Given the description of an element on the screen output the (x, y) to click on. 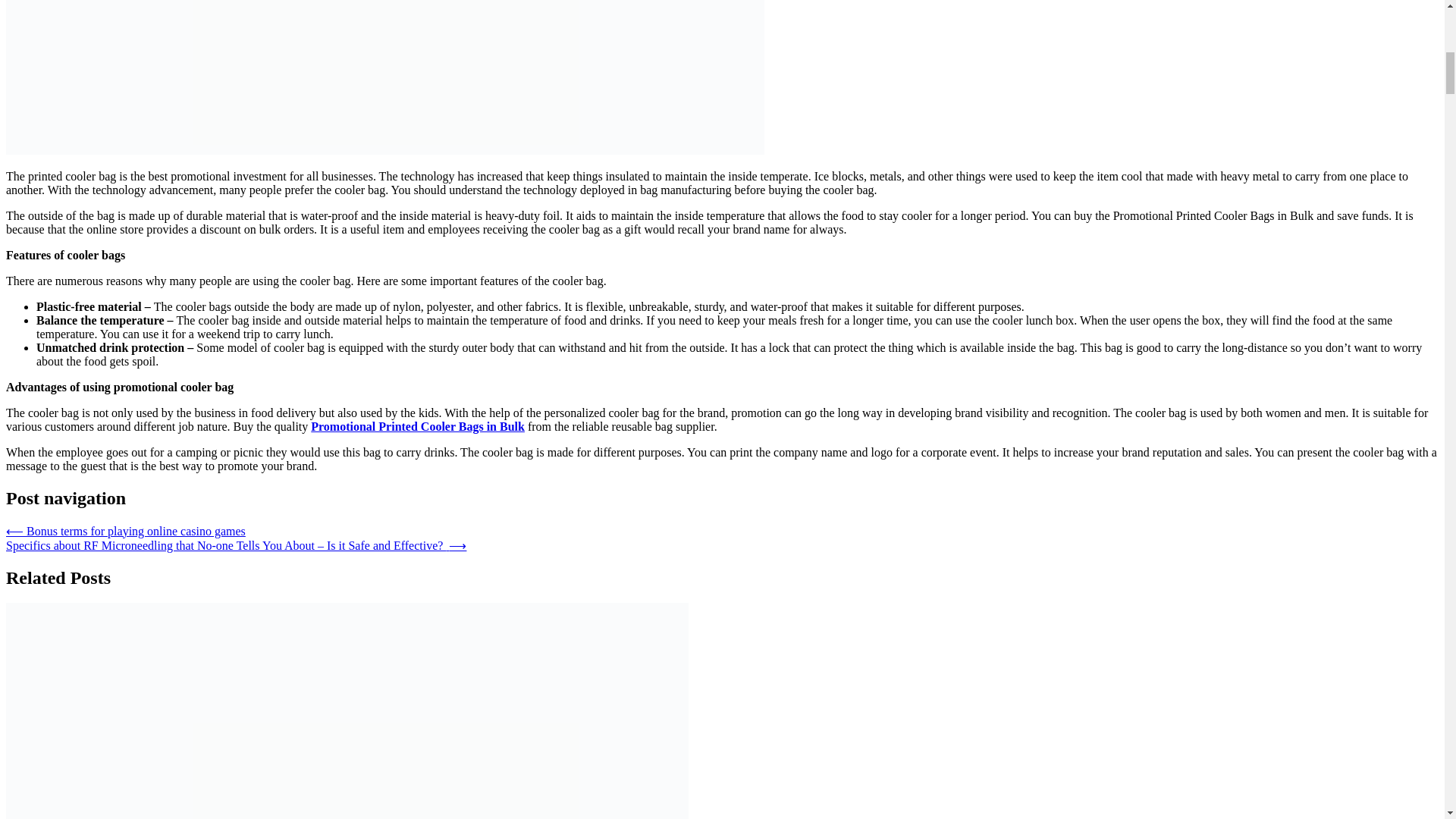
Promotional Printed Cooler Bags in Bulk (417, 426)
